Given the description of an element on the screen output the (x, y) to click on. 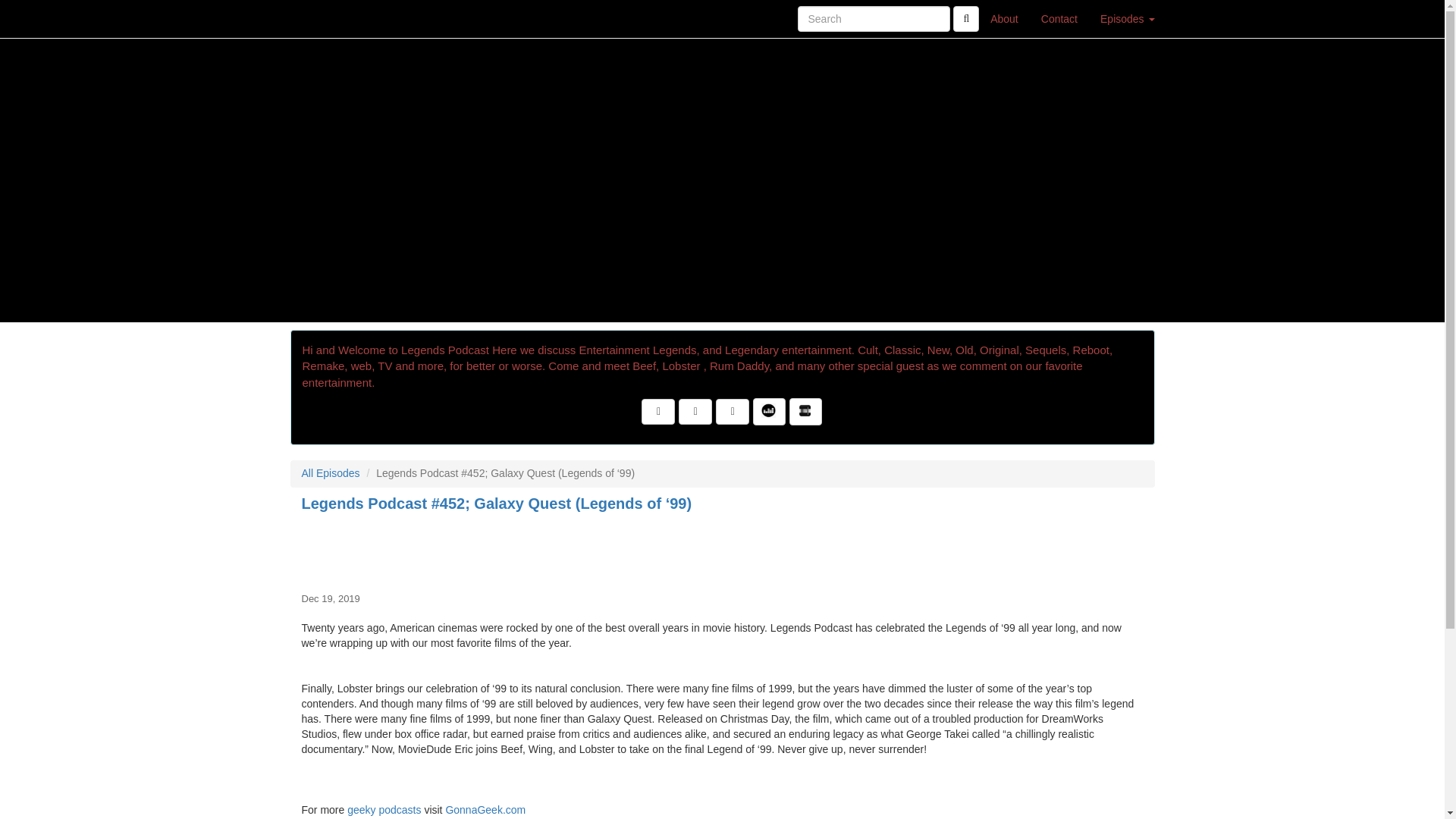
Home Page (320, 18)
About (1003, 18)
Contact (1059, 18)
Episodes (1127, 18)
